Given the description of an element on the screen output the (x, y) to click on. 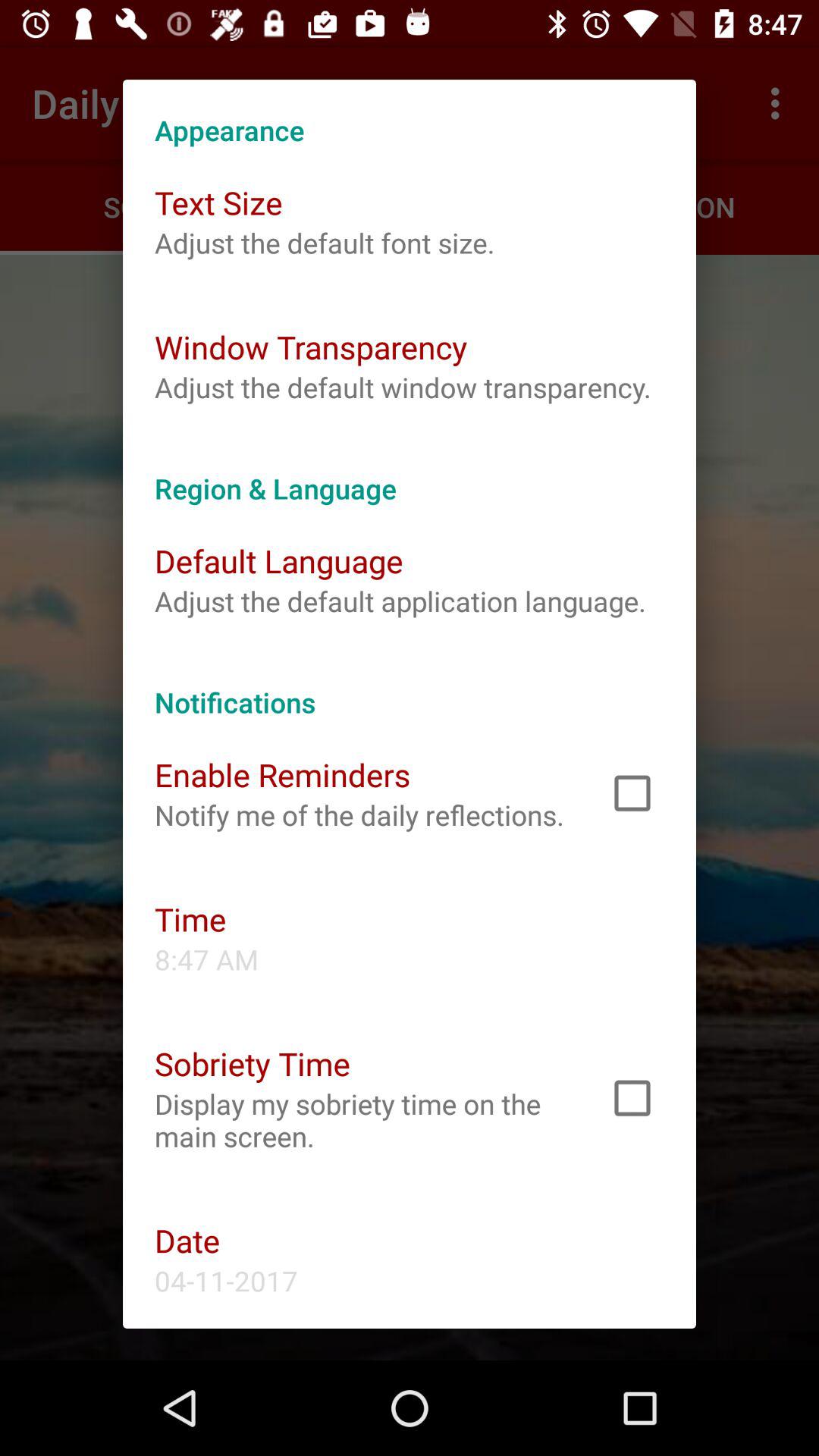
scroll until region & language item (409, 472)
